Given the description of an element on the screen output the (x, y) to click on. 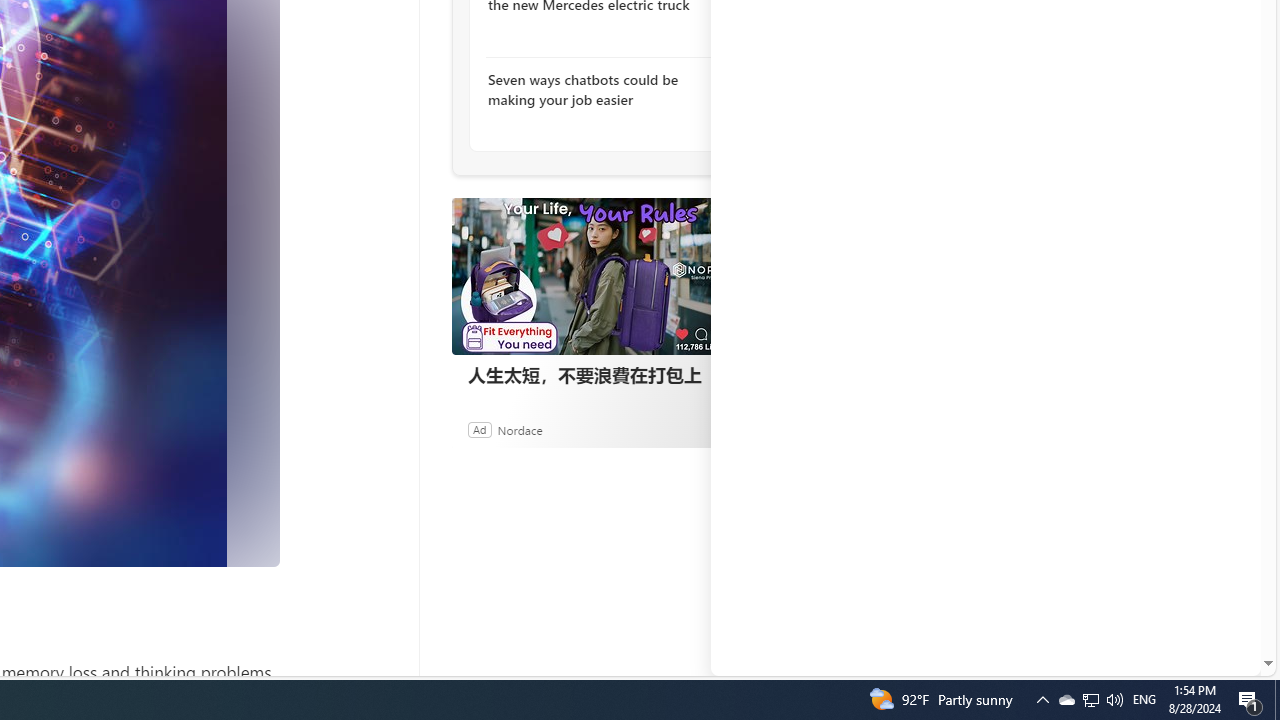
Seven ways chatbots could be making your job easier (596, 89)
